Given the description of an element on the screen output the (x, y) to click on. 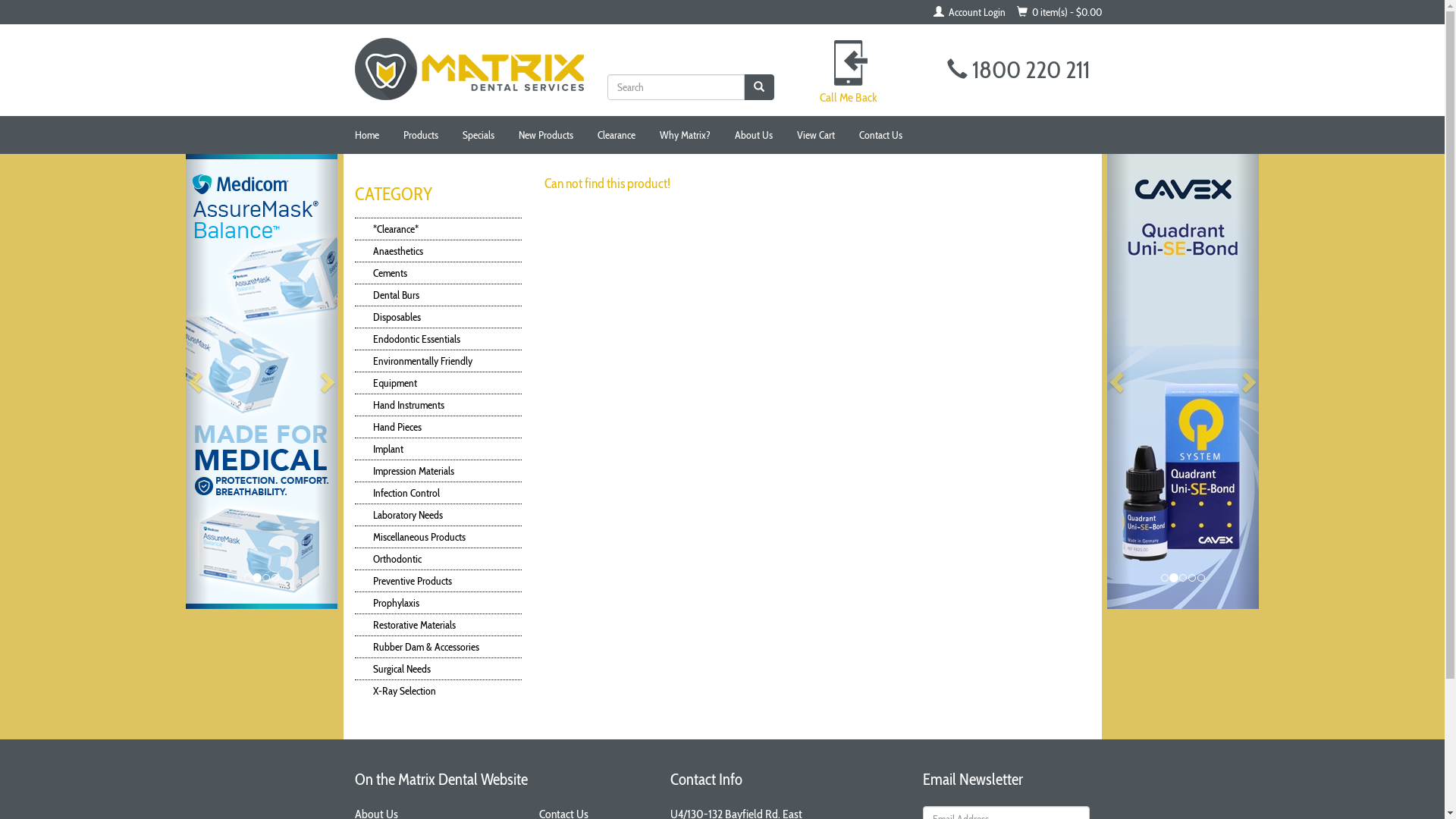
Preventive Products Element type: text (439, 580)
Hand Pieces Element type: text (439, 426)
View Cart Element type: text (815, 134)
  Account Login Element type: text (968, 11)
Next Element type: text (325, 380)
Previous Element type: text (1118, 380)
*Clearance* Element type: text (439, 228)
Cements Element type: text (439, 272)
About Us Element type: text (753, 134)
Environmentally Friendly Element type: text (439, 360)
Clearance Element type: text (615, 134)
Surgical Needs Element type: text (439, 668)
Orthodontic Element type: text (439, 558)
X-Ray Selection Element type: text (439, 690)
Previous Element type: text (196, 380)
1800 220 211 Element type: text (1018, 69)
Equipment Element type: text (439, 382)
Disposables Element type: text (439, 316)
Endodontic Essentials Element type: text (439, 338)
Prophylaxis Element type: text (439, 602)
Products Element type: text (419, 134)
Dental Burs Element type: text (439, 294)
Miscellaneous Products Element type: text (439, 536)
Restorative Materials Element type: text (439, 624)
New Products Element type: text (544, 134)
Hand Instruments Element type: text (439, 404)
Infection Control Element type: text (439, 492)
  0 item(s) - $0.00 Element type: text (1058, 11)
Rubber Dam & Accessories Element type: text (439, 646)
Impression Materials Element type: text (439, 470)
Call Me Back Element type: text (848, 97)
Next Element type: text (1247, 380)
Why Matrix? Element type: text (684, 134)
Home Element type: text (365, 134)
Specials Element type: text (477, 134)
Contact Us Element type: text (880, 134)
Laboratory Needs Element type: text (439, 514)
Implant Element type: text (439, 448)
Anaesthetics Element type: text (439, 250)
